Given the description of an element on the screen output the (x, y) to click on. 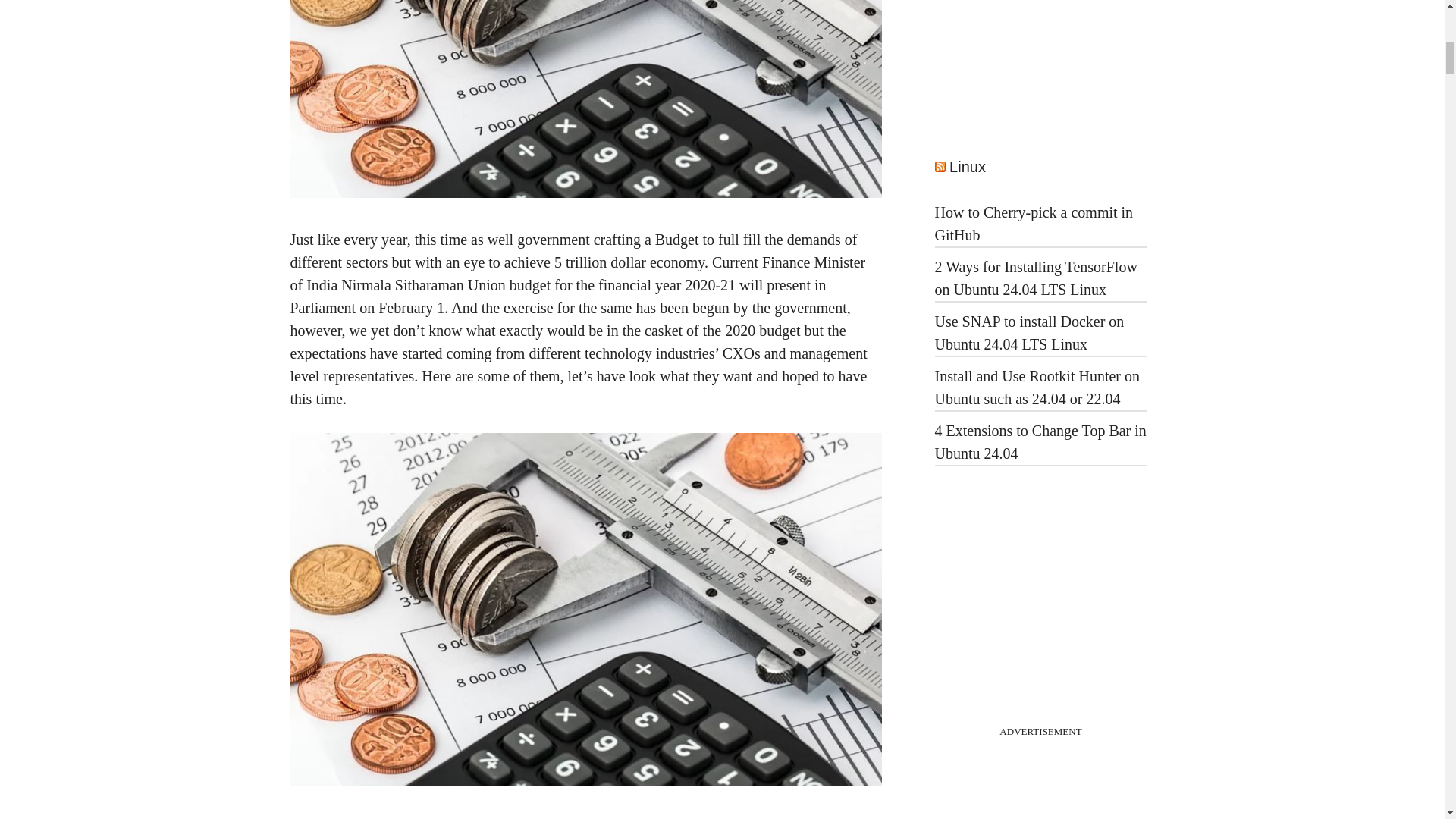
Scroll back to top (1406, 720)
